Given the description of an element on the screen output the (x, y) to click on. 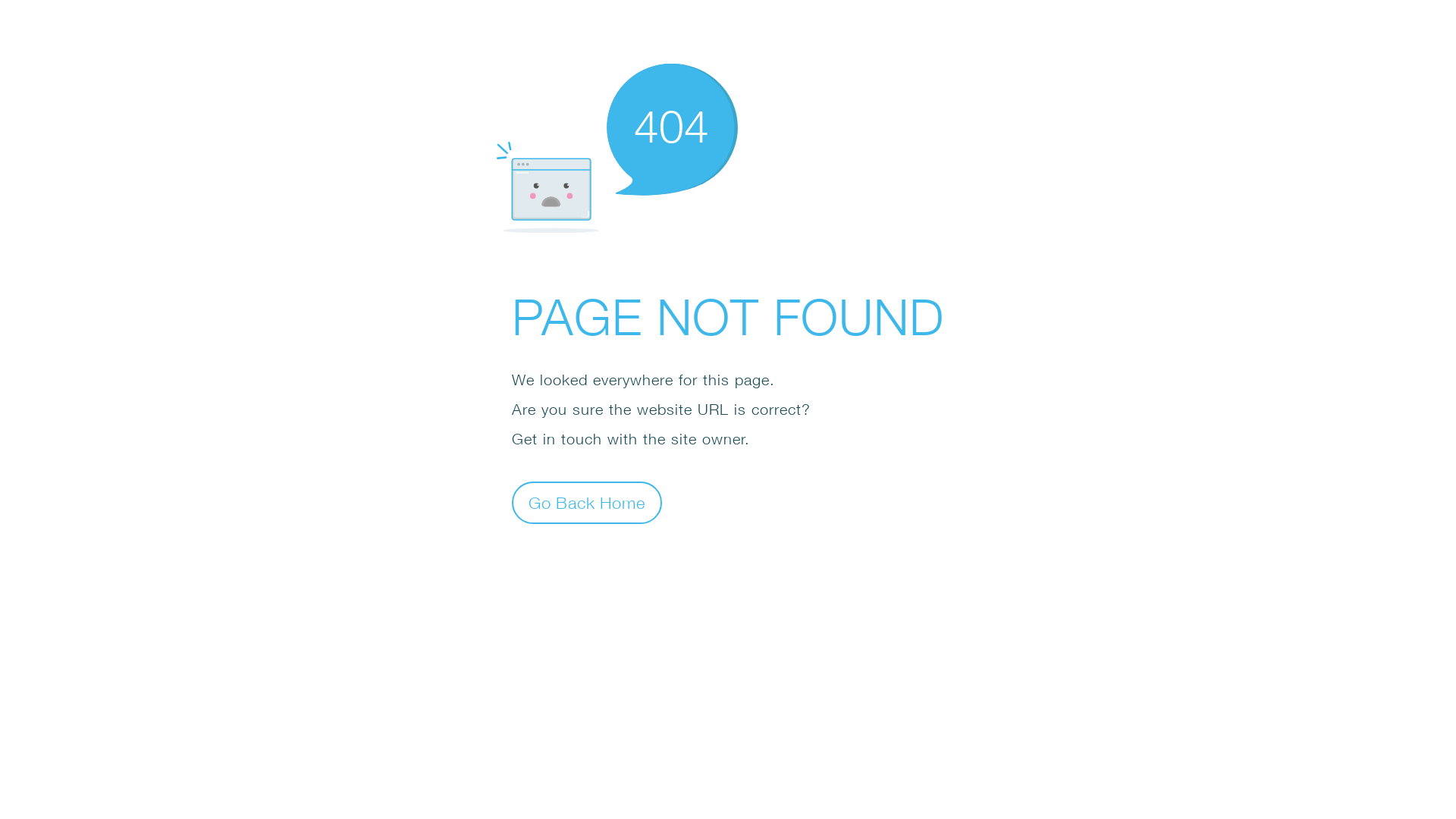
Go Back Home Element type: text (586, 502)
